Given the description of an element on the screen output the (x, y) to click on. 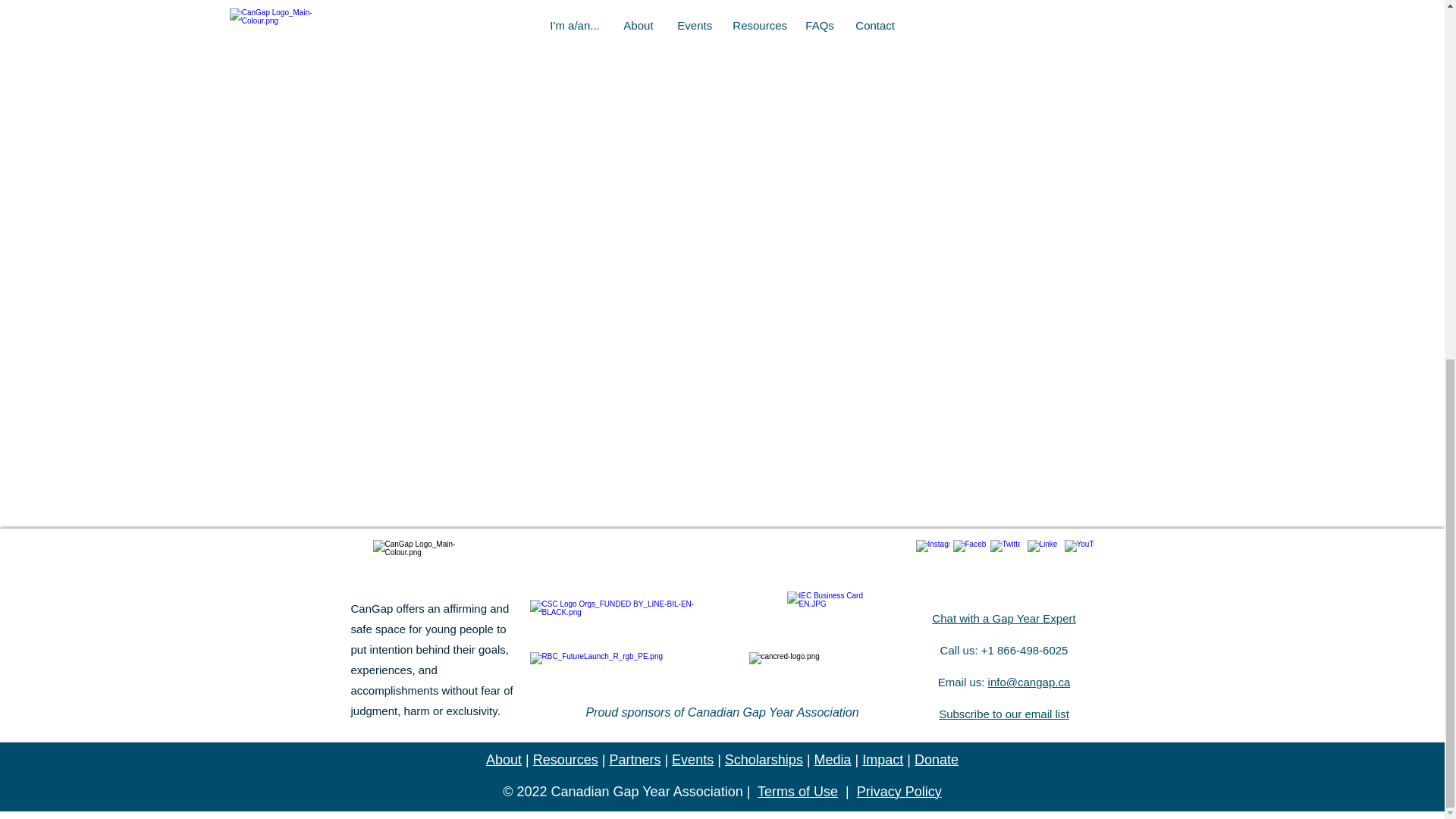
Donate (936, 759)
Scholarships (764, 759)
Partners (634, 759)
Resources (565, 759)
Chat with a Gap Year Expert (1003, 617)
Subscribe to our email list (1003, 713)
Media (832, 759)
Impact (881, 759)
Events (692, 759)
About (503, 759)
